Given the description of an element on the screen output the (x, y) to click on. 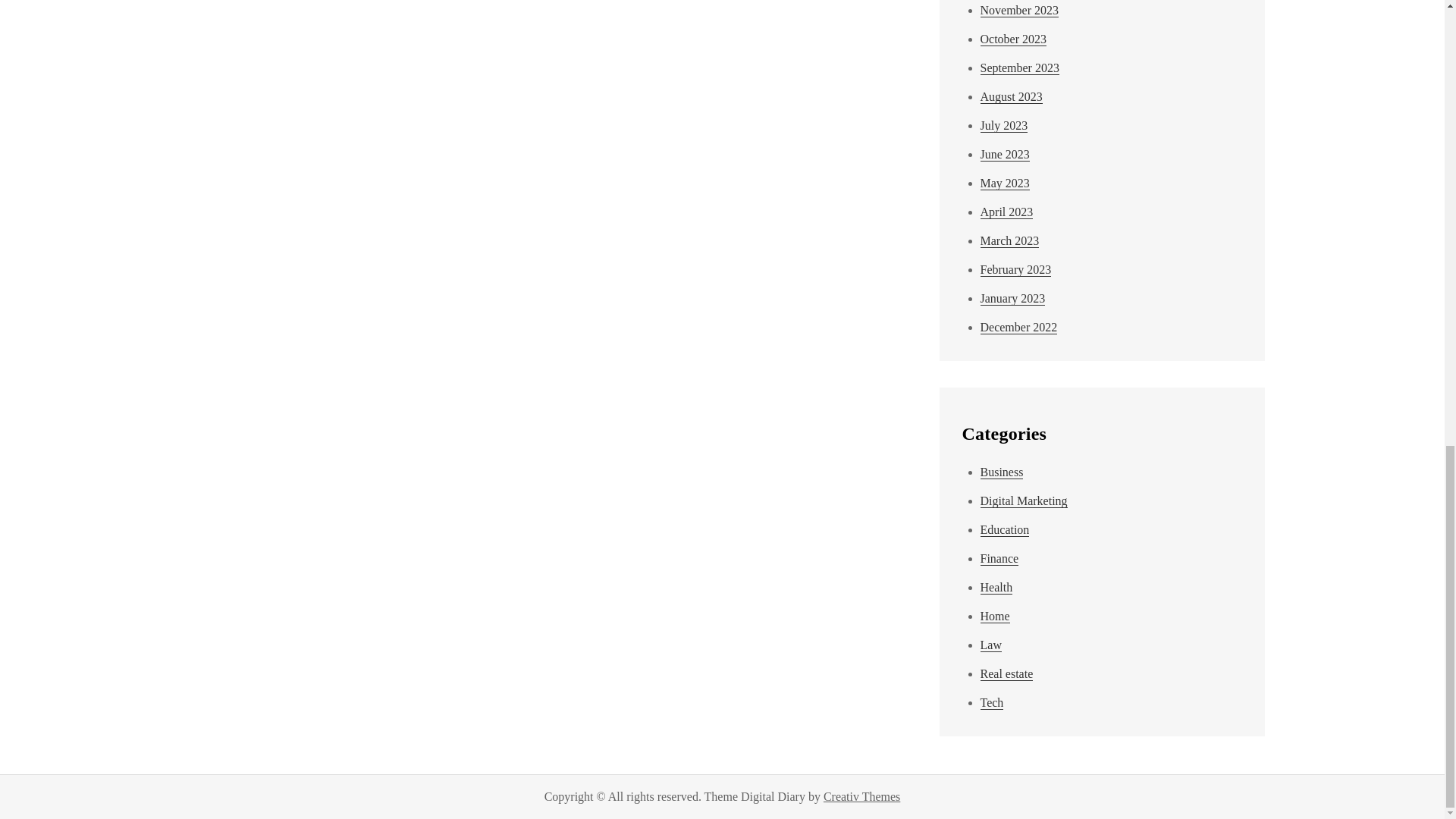
July 2023 (1003, 125)
February 2023 (1015, 269)
September 2023 (1018, 68)
October 2023 (1012, 38)
June 2023 (1004, 154)
May 2023 (1004, 183)
March 2023 (1009, 241)
November 2023 (1018, 10)
April 2023 (1005, 212)
August 2023 (1010, 97)
